Given the description of an element on the screen output the (x, y) to click on. 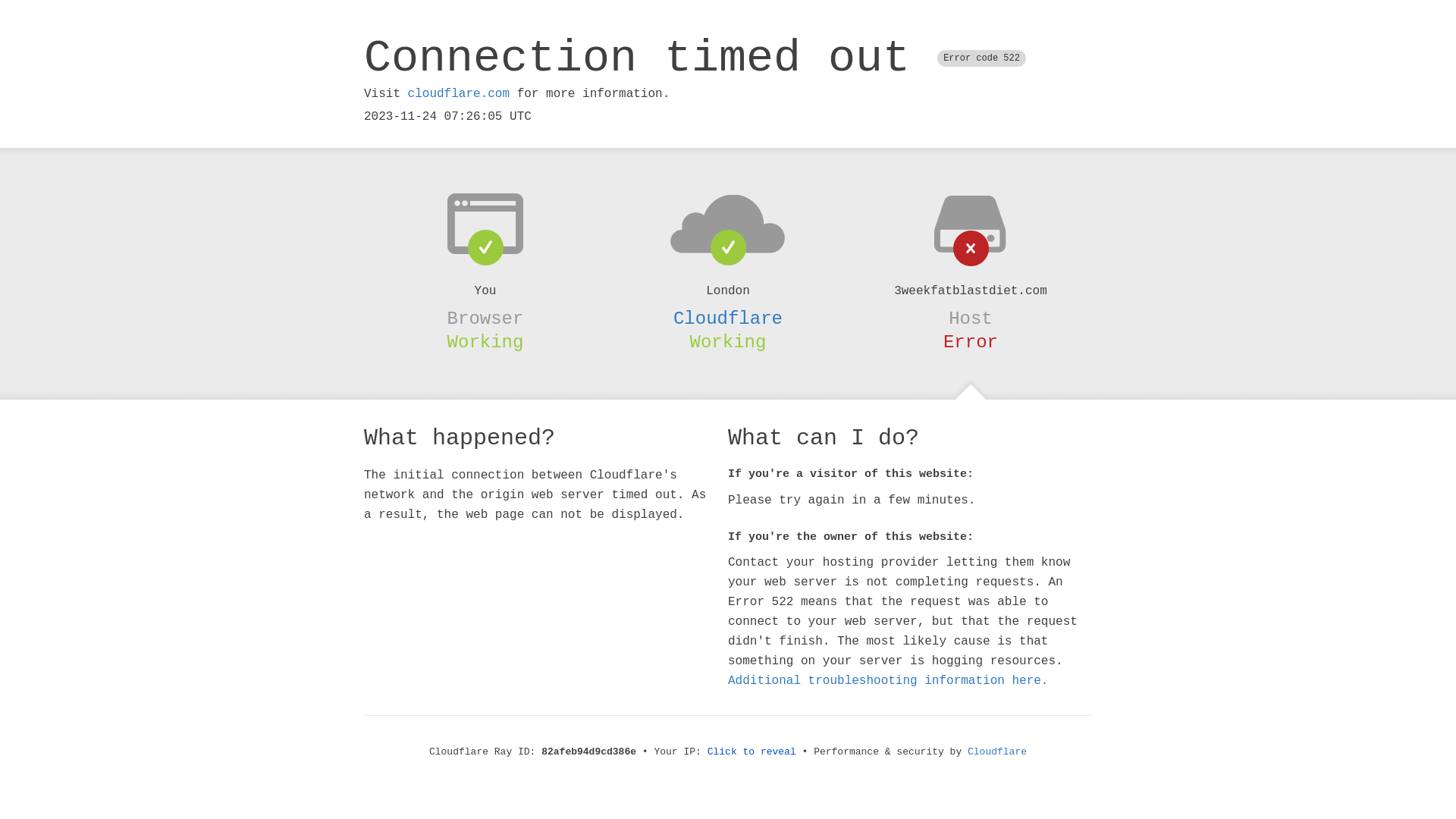
Cloudflare Element type: text (727, 318)
Click to reveal Element type: text (751, 751)
Cloudflare Element type: text (996, 751)
cloudflare.com Element type: text (458, 93)
Additional troubleshooting information here. Element type: text (888, 680)
